Given the description of an element on the screen output the (x, y) to click on. 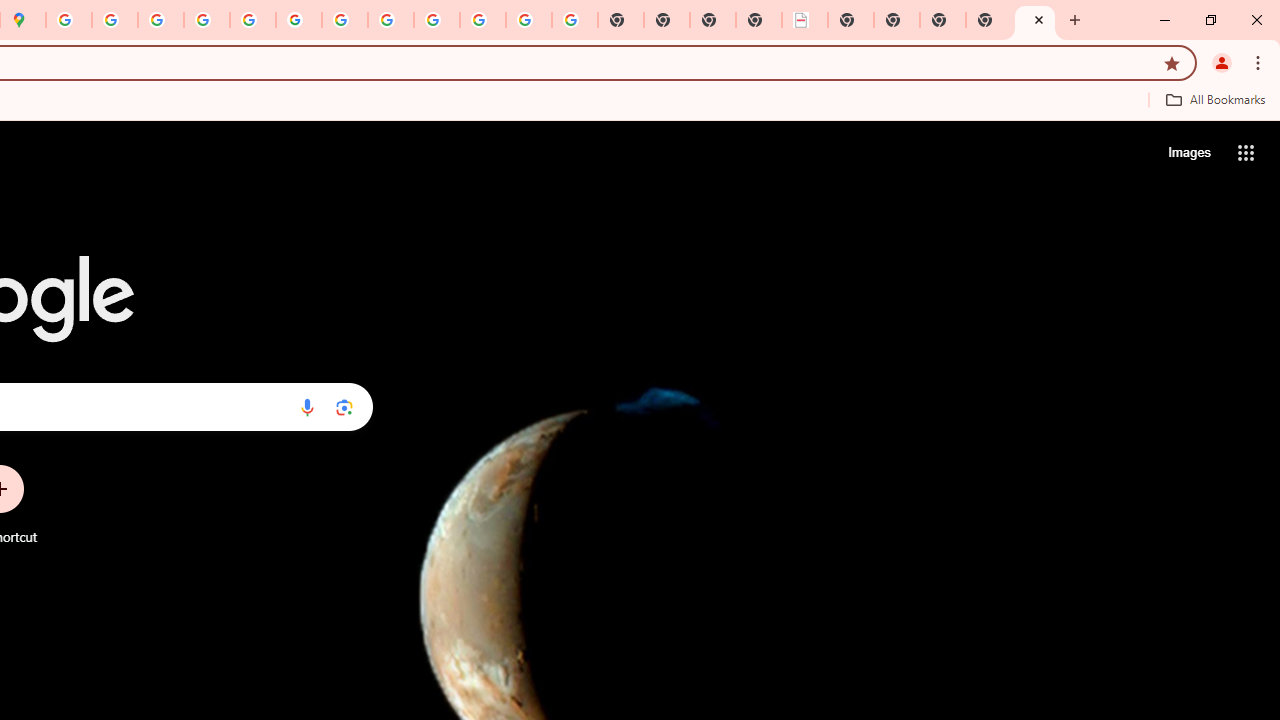
Privacy Help Center - Policies Help (207, 20)
New Tab (1035, 20)
Sign in - Google Accounts (69, 20)
